Given the description of an element on the screen output the (x, y) to click on. 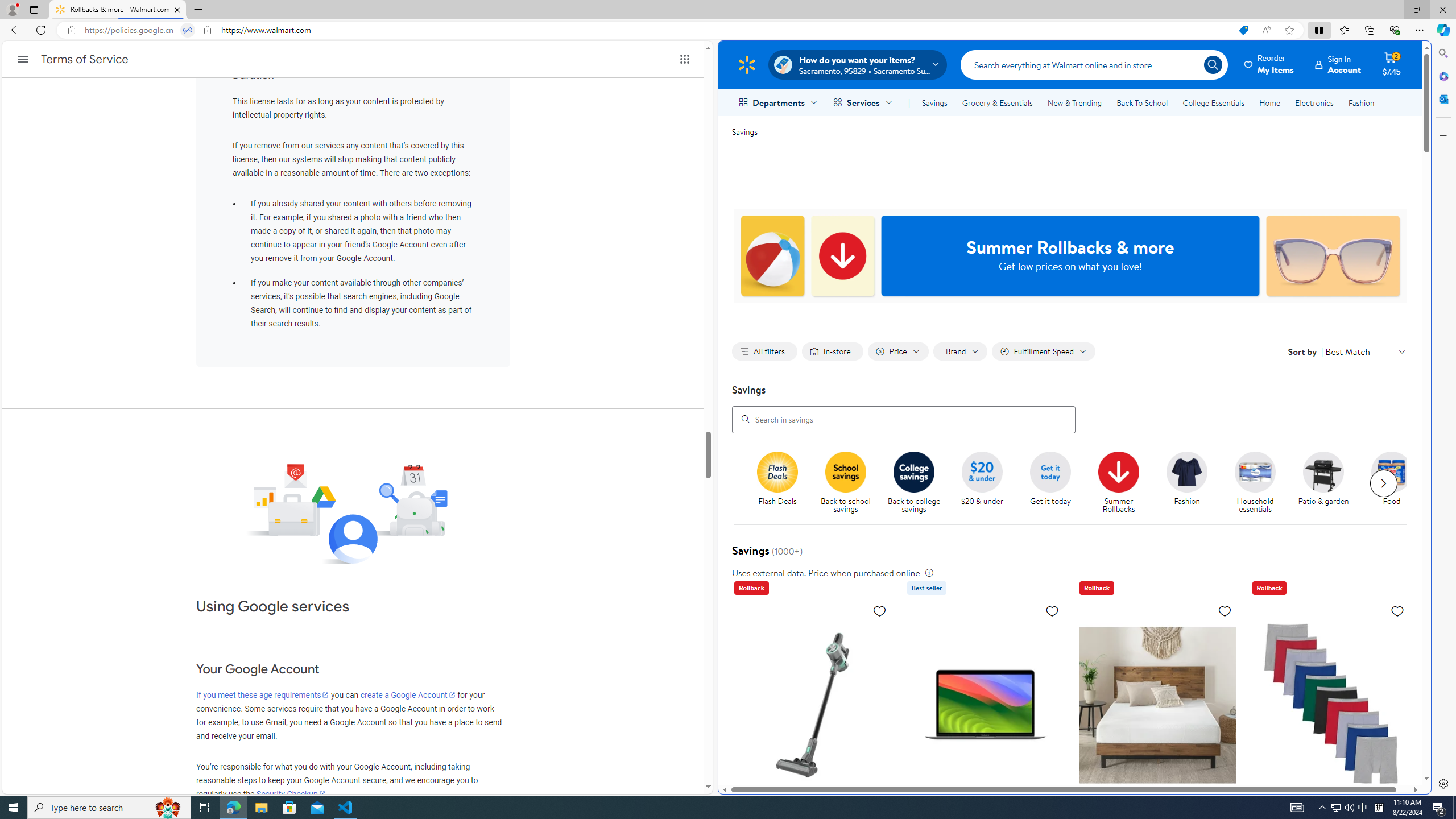
Savings (933, 102)
Fashion (1191, 483)
$20 and under $20 & under (981, 478)
Split screen (1318, 29)
Hanes Men's Super Value Pack Assorted Boxer Briefs, 10 Pack (1330, 704)
College Essentials (1213, 102)
Patio & garden Patio & garden (1323, 478)
Close Search pane (1442, 53)
$20 & under (986, 483)
This site has coupons! Shopping in Microsoft Edge, 7 (1243, 29)
Back to College savings Back to college savings (913, 483)
Settings (1442, 783)
Tabs in split screen (187, 29)
Back (13, 29)
